Given the description of an element on the screen output the (x, y) to click on. 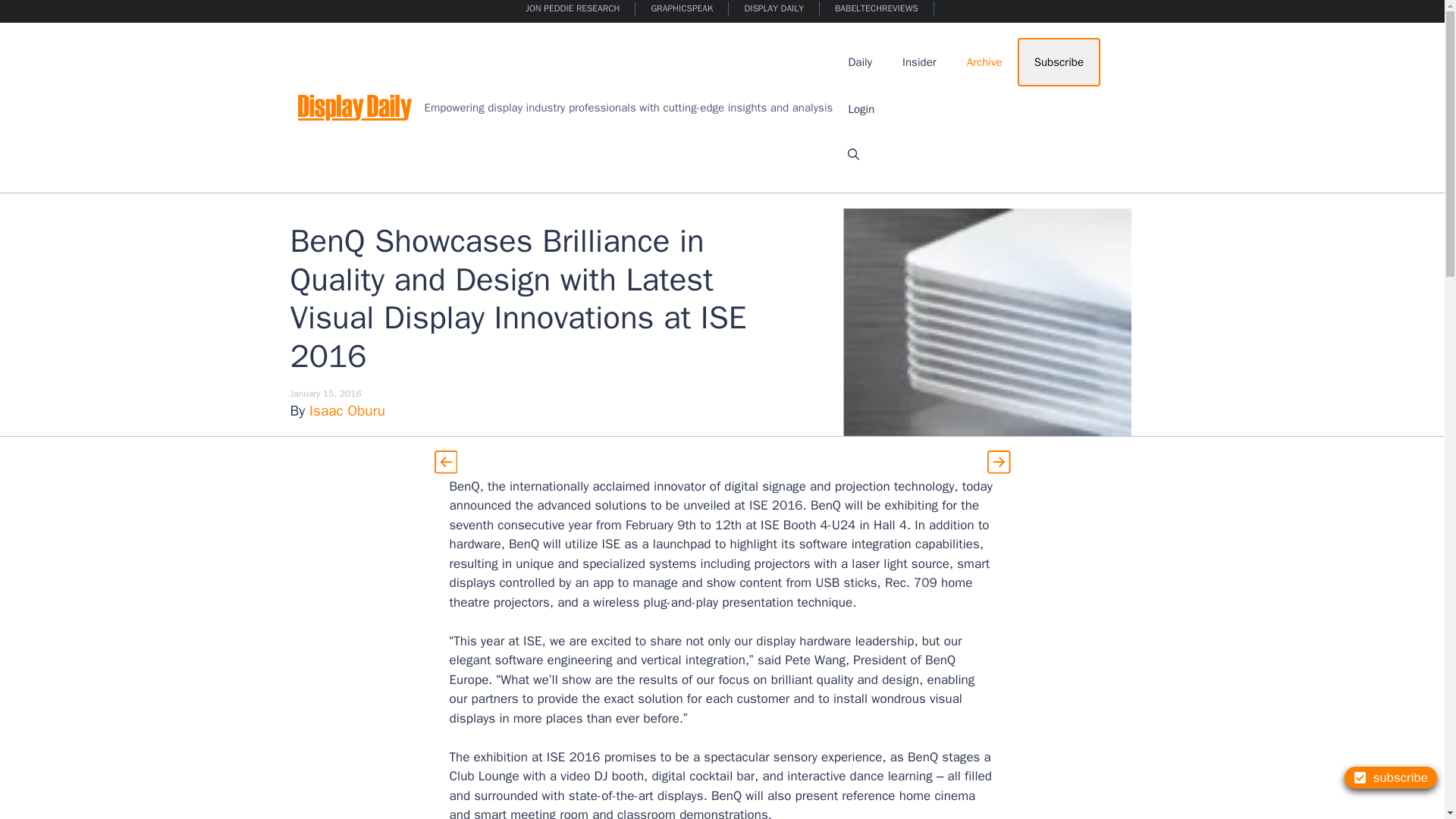
subscribe (1390, 776)
Subscribe (1059, 62)
Archive (984, 62)
subscribe (1390, 776)
Daily (859, 62)
DISPLAY DAILY (773, 8)
GRAPHICSPEAK (681, 8)
JON PEDDIE RESEARCH (572, 8)
Isaac Oburu (346, 411)
Login (860, 108)
BABELTECHREVIEWS (876, 8)
Insider (919, 62)
